Given the description of an element on the screen output the (x, y) to click on. 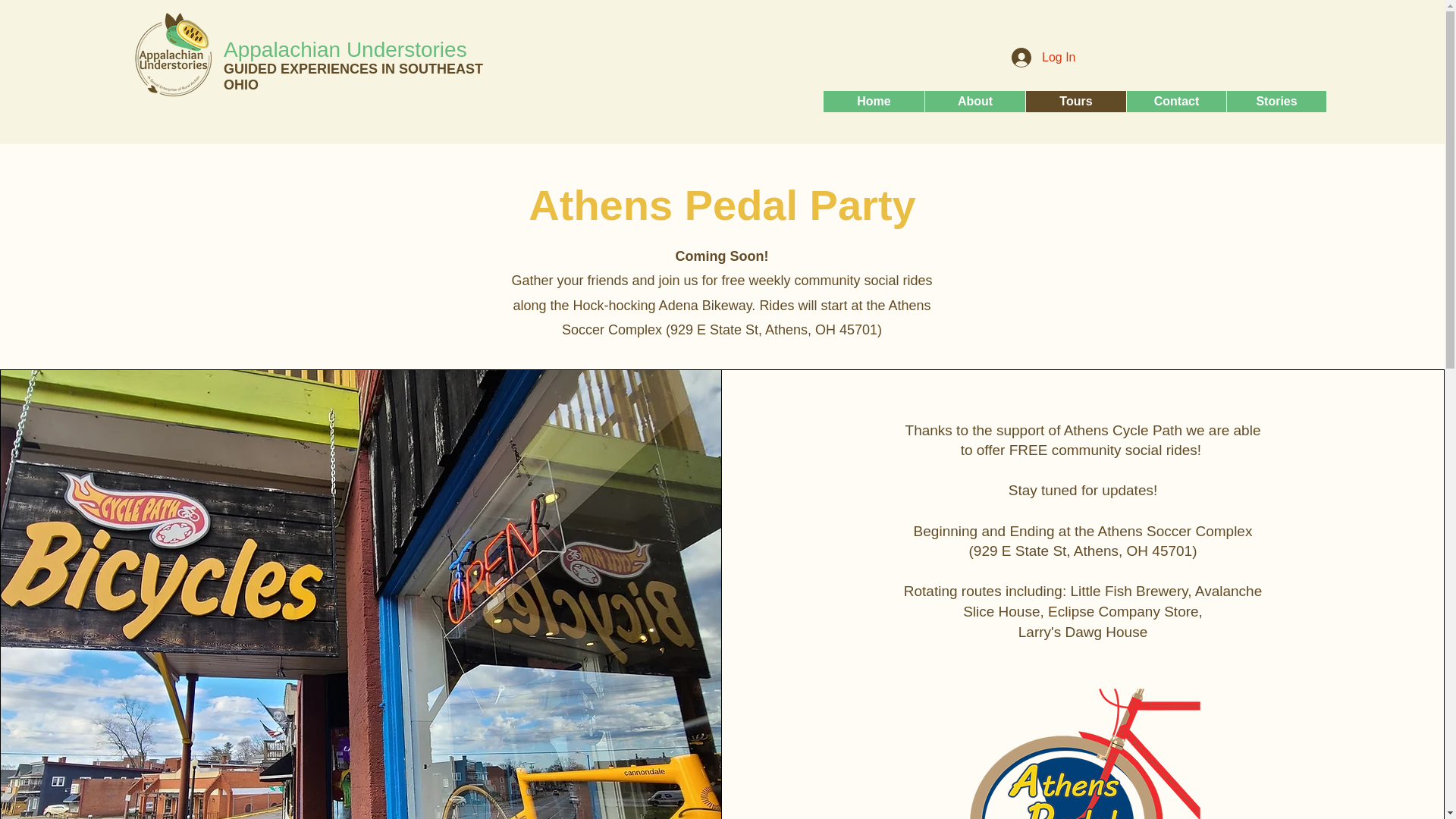
Tours (1075, 101)
About (974, 101)
Home (874, 101)
Log In (1043, 57)
Appalachian Understories  (347, 49)
Stories (1275, 101)
Contact (1175, 101)
